Given the description of an element on the screen output the (x, y) to click on. 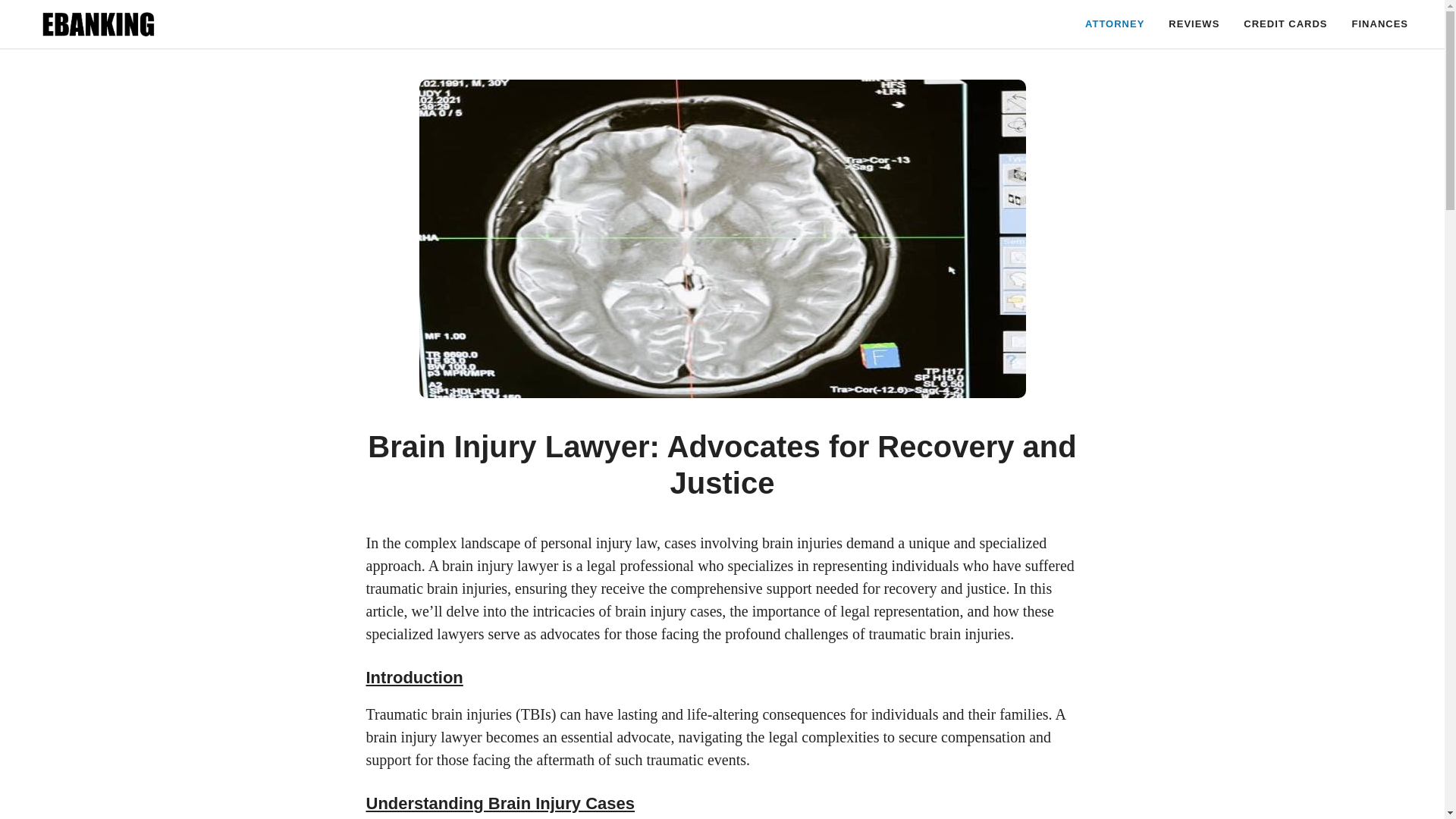
ATTORNEY (1114, 23)
CREDIT CARDS (1285, 23)
REVIEWS (1193, 23)
FINANCES (1380, 23)
